Given the description of an element on the screen output the (x, y) to click on. 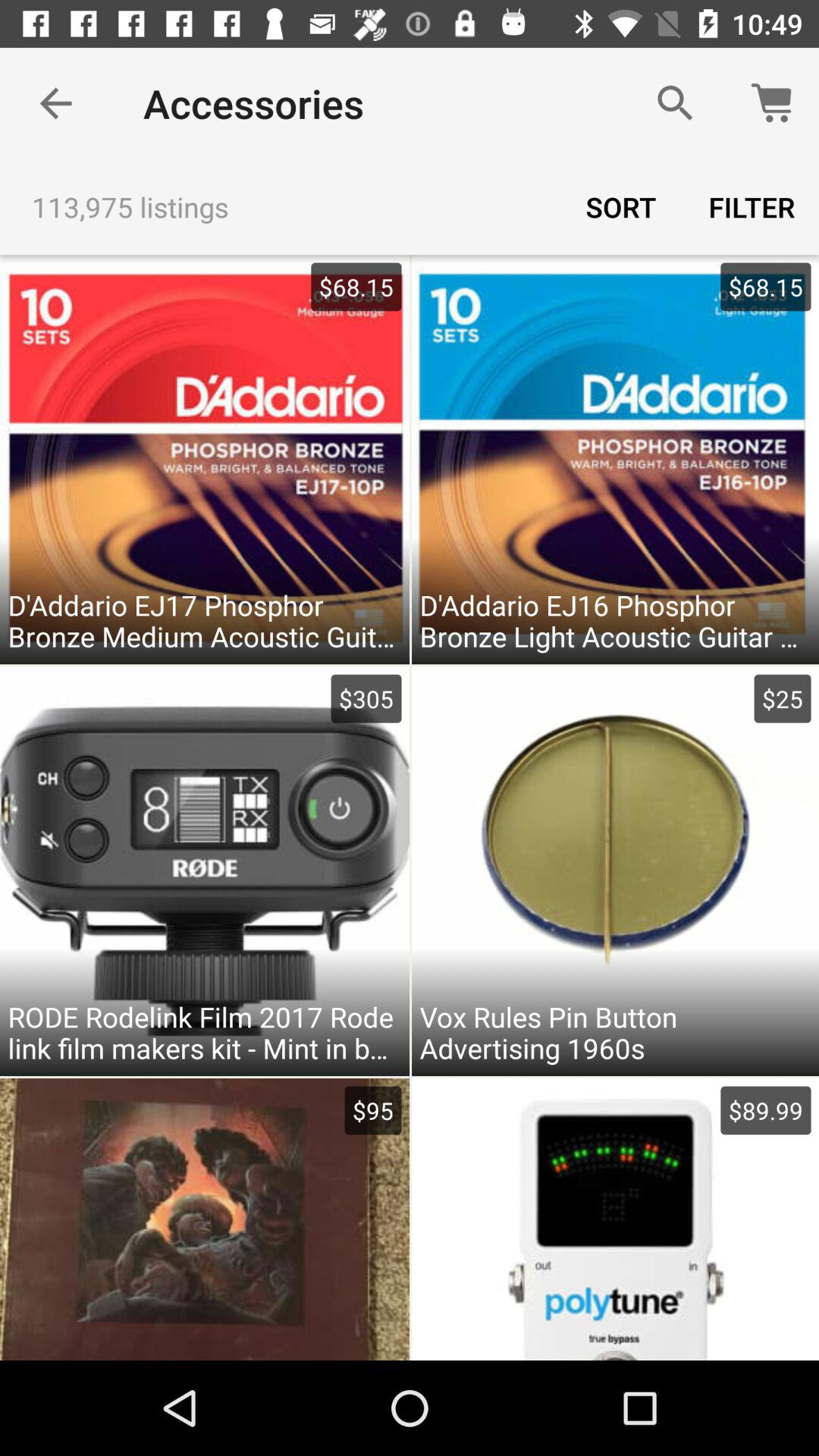
jump to sort item (620, 206)
